Given the description of an element on the screen output the (x, y) to click on. 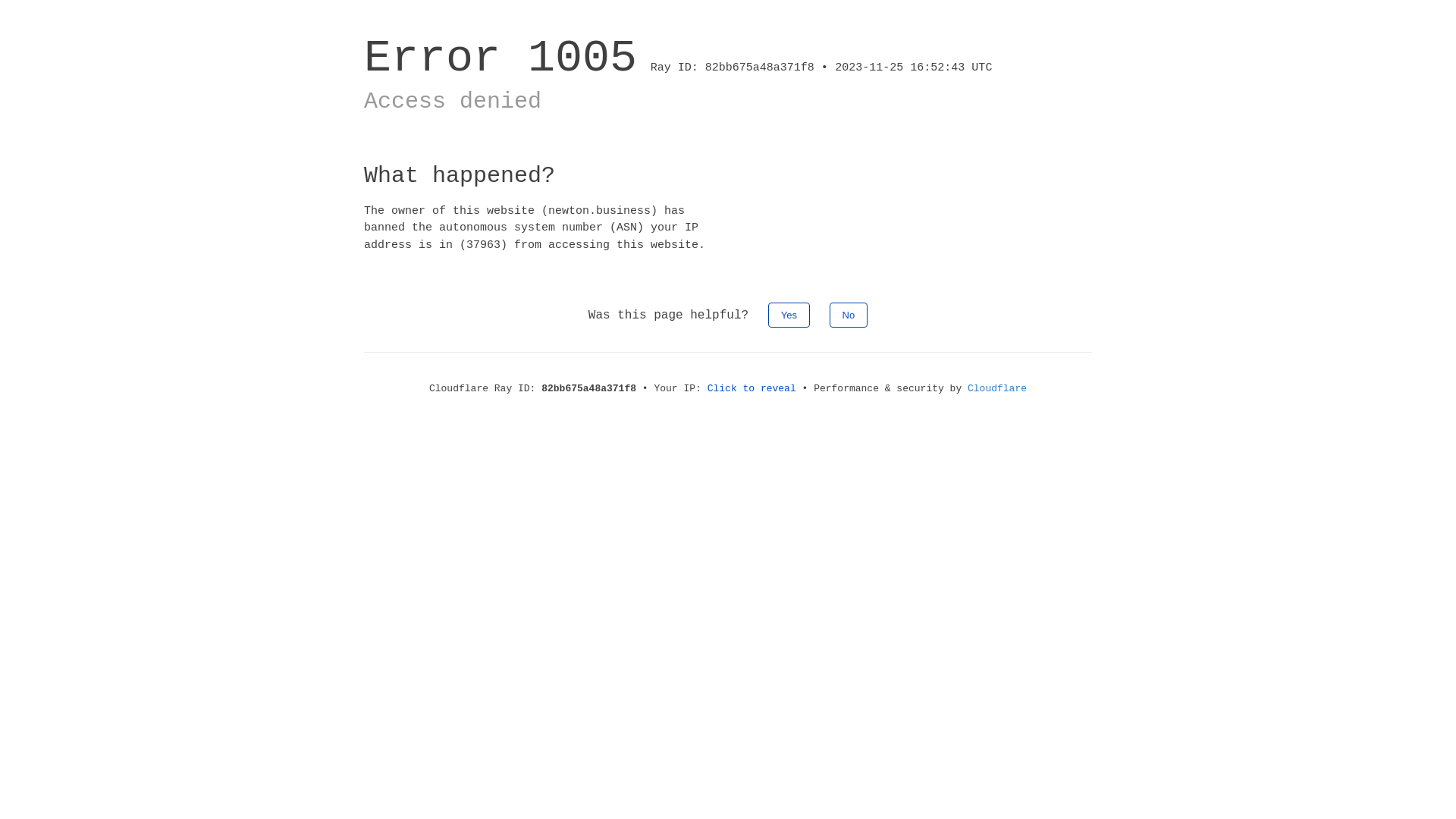
Click to reveal Element type: text (751, 388)
No Element type: text (848, 314)
Cloudflare Element type: text (996, 388)
Yes Element type: text (788, 314)
